Given the description of an element on the screen output the (x, y) to click on. 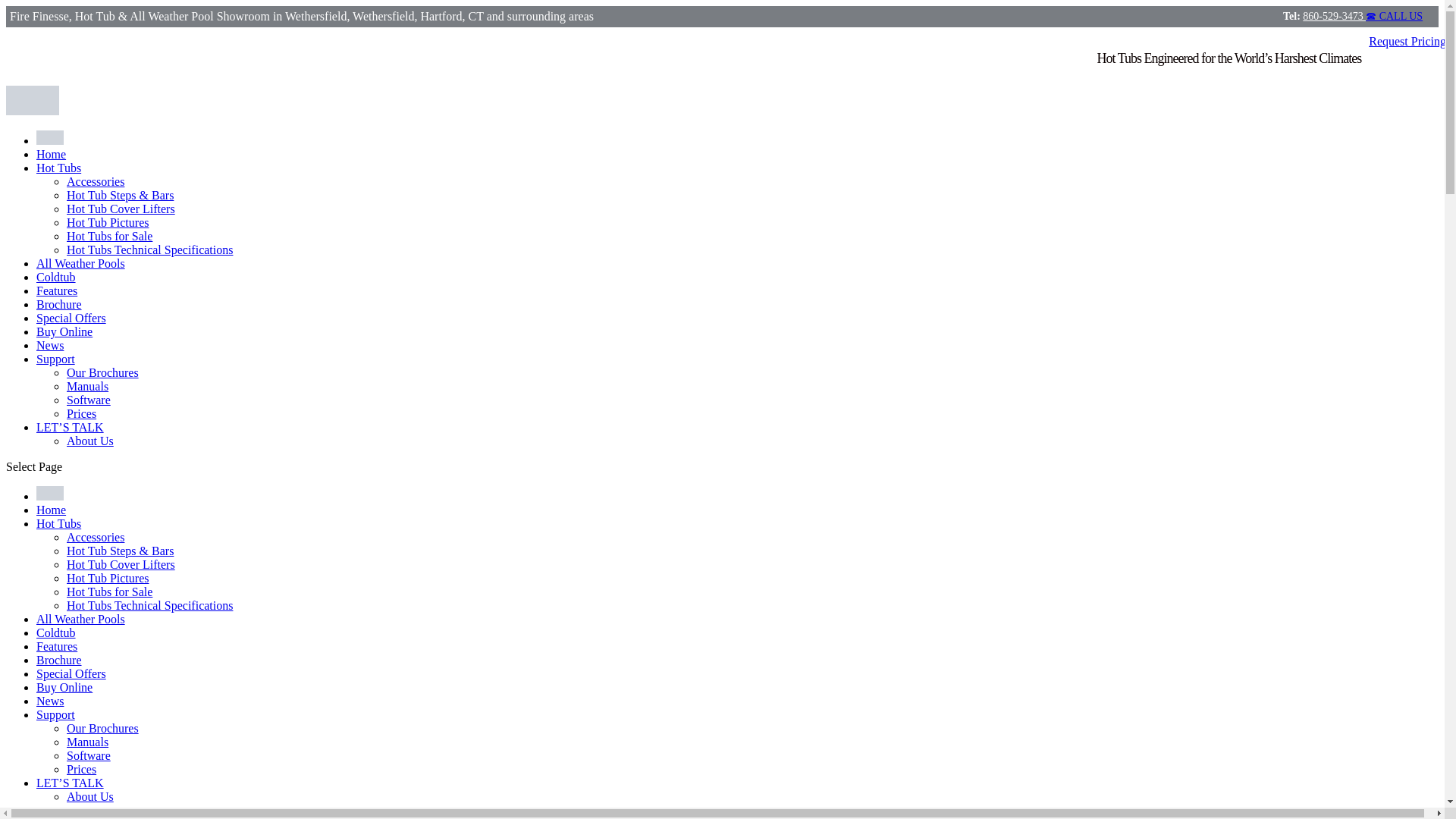
Coldtub (55, 632)
Our Brochures (102, 372)
Hot Tubs Technical Specifications (149, 249)
Hot Tub Cover Lifters (120, 208)
Hot Tubs (58, 167)
Choose Your Location (50, 140)
Features (56, 290)
buy artic spas hot tub parts online (64, 686)
Hot Tubs for Sale (109, 236)
Choose Your Location (50, 493)
Brochure (58, 304)
Return to the home page (50, 509)
Request Pricing (1406, 41)
Features (56, 645)
buy artic spas hot tub parts online (64, 331)
